Given the description of an element on the screen output the (x, y) to click on. 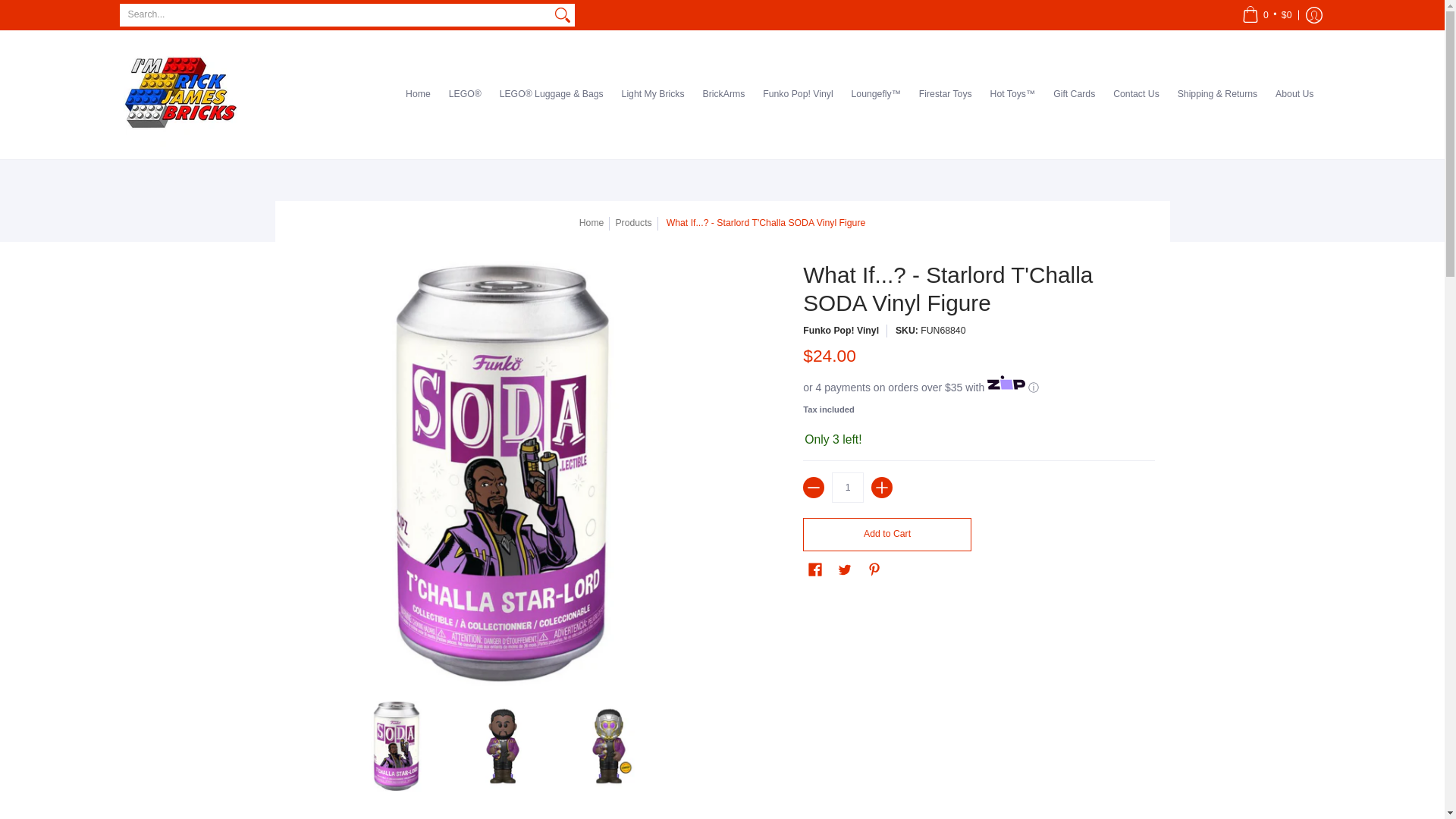
What If...? - Starlord T'Challa SODA Vinyl Figure (607, 746)
About Us (1294, 94)
Home (417, 94)
About Us (1294, 94)
Light My Bricks (653, 94)
Products (632, 222)
Firestar Toys (945, 94)
Pinterest (874, 568)
BrickArms (723, 94)
BrickArms (723, 94)
1 (847, 487)
What If...? - Starlord T'Challa SODA Vinyl Figure (395, 746)
Cart (1266, 15)
Contact Us (1136, 94)
Log in (1312, 15)
